Given the description of an element on the screen output the (x, y) to click on. 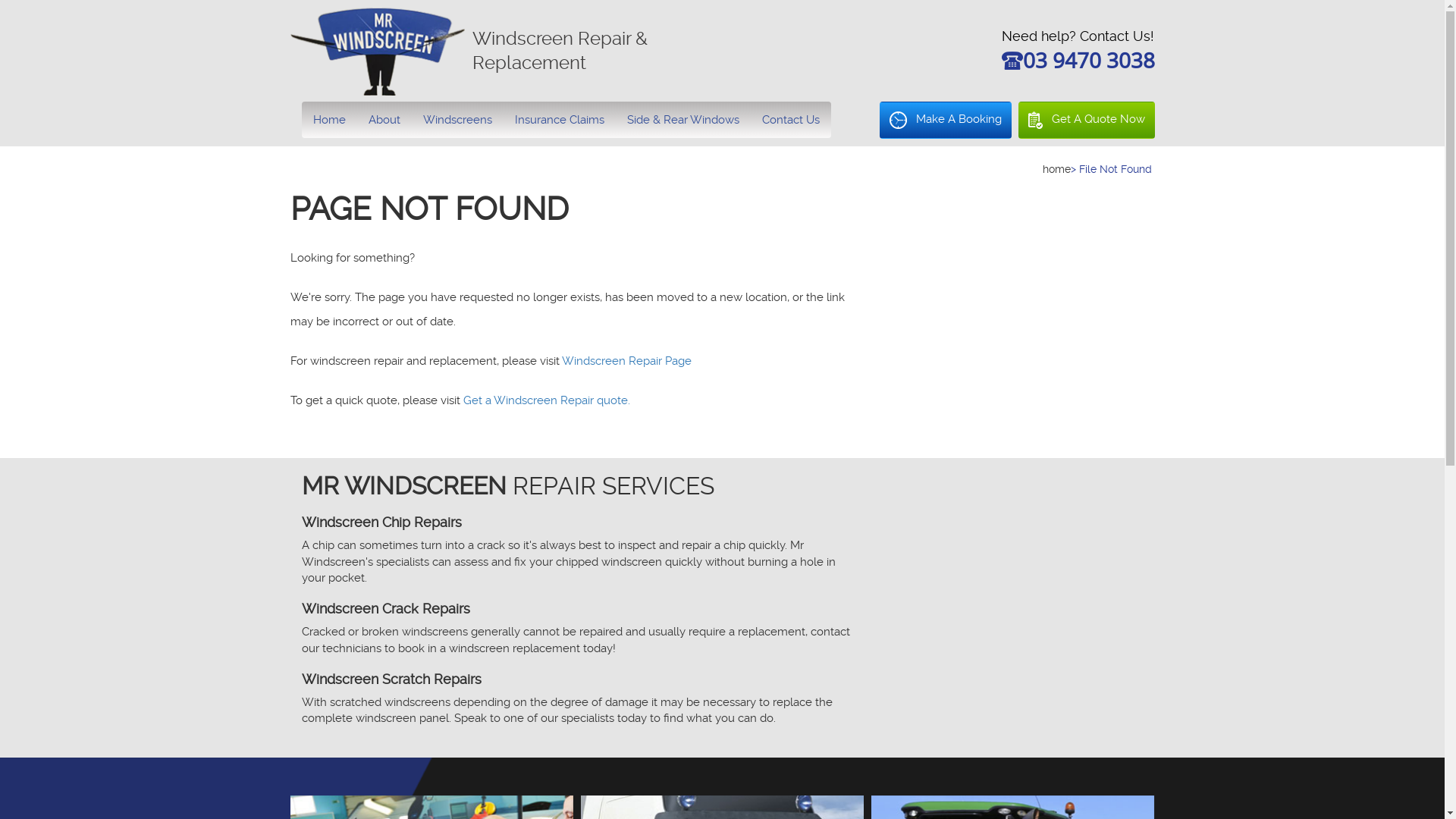
Get a Windscreen Repair quote. Element type: text (545, 400)
Get A Quote Now Element type: text (1085, 119)
Make A Booking Element type: text (945, 119)
Insurance Claims Element type: text (559, 119)
Windscreens Element type: text (456, 119)
Contact Us Element type: text (790, 119)
Side & Rear Windows Element type: text (682, 119)
About Element type: text (383, 119)
home Element type: text (1055, 168)
Windscreen Repair Page Element type: text (625, 360)
Home Element type: text (329, 119)
03 9470 3038 Element type: text (1088, 63)
> File Not Found Element type: text (1110, 168)
